Given the description of an element on the screen output the (x, y) to click on. 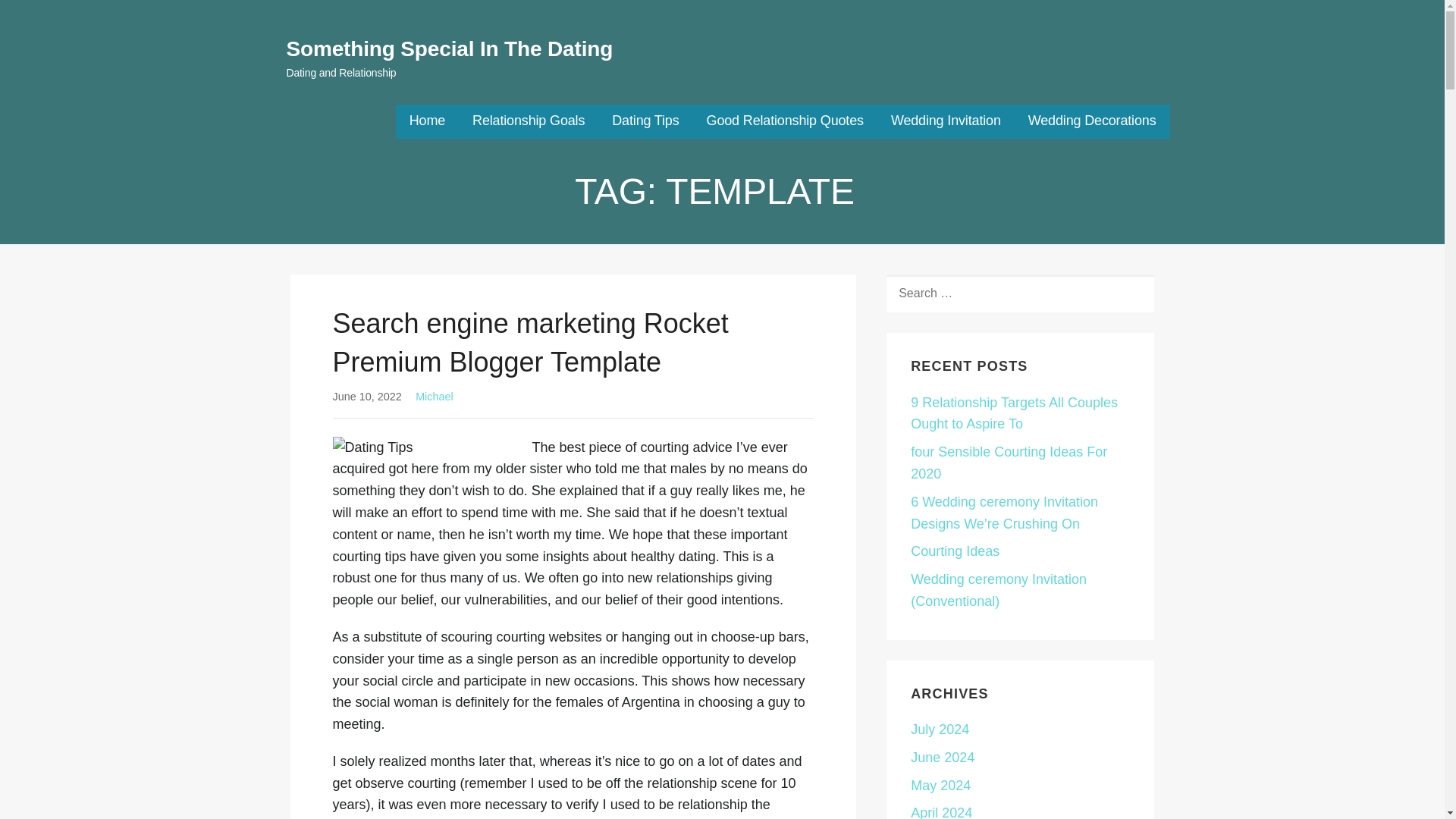
Wedding Decorations (1091, 121)
Home (427, 121)
Something Special In The Dating (449, 48)
Wedding Invitation (946, 121)
Dating Tips (644, 121)
Posts by Michael (433, 396)
Michael (433, 396)
Good Relationship Quotes (784, 121)
Relationship Goals (528, 121)
Search engine marketing Rocket Premium Blogger Template (529, 341)
